Given the description of an element on the screen output the (x, y) to click on. 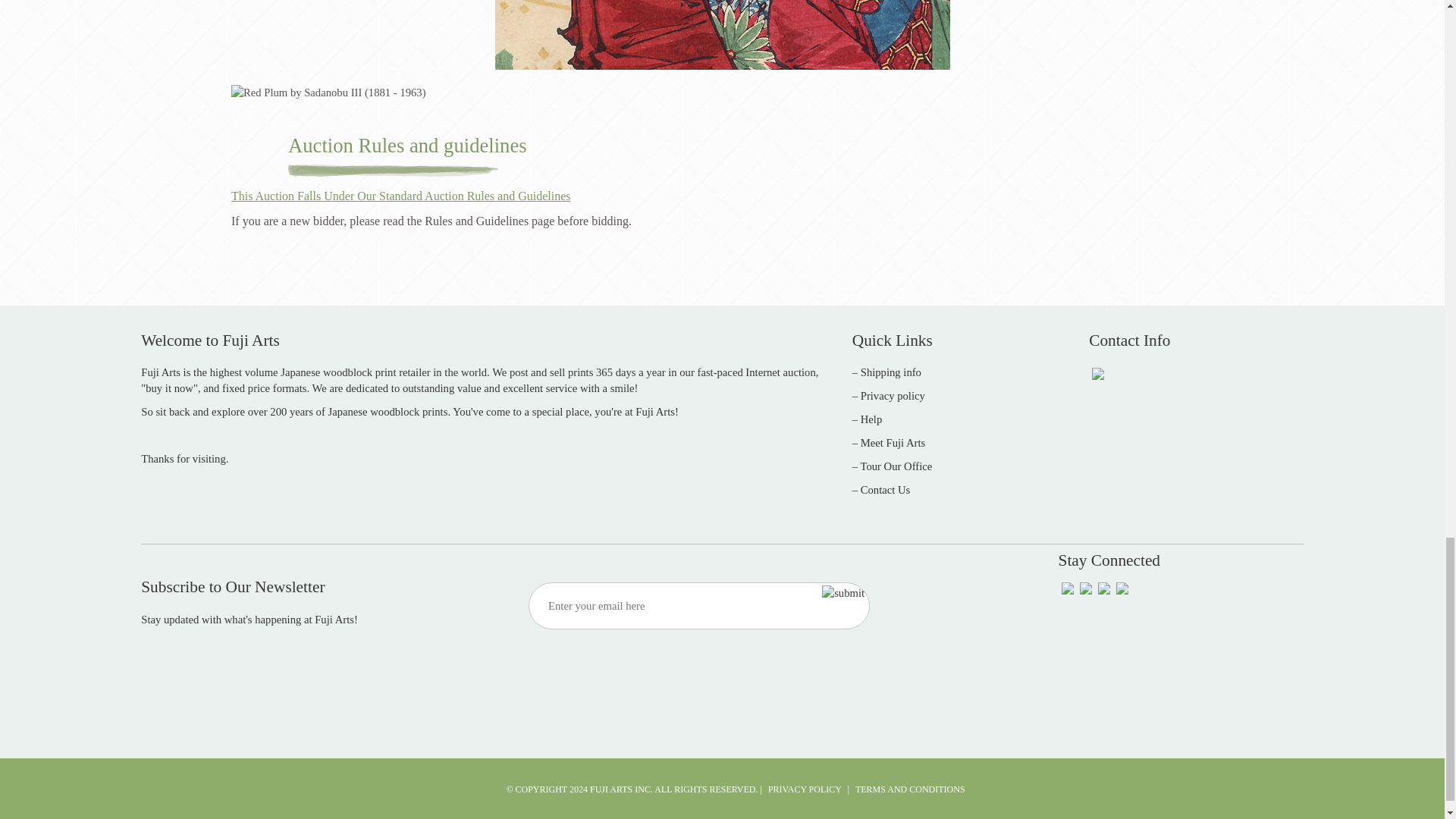
PRIVACY POLICY (805, 789)
Help (871, 419)
Contact Us (885, 490)
Tour Our Office (895, 466)
Meet Fuji Arts (893, 442)
Privacy policy (892, 395)
TERMS AND CONDITIONS (910, 789)
Shipping info (890, 372)
